Given the description of an element on the screen output the (x, y) to click on. 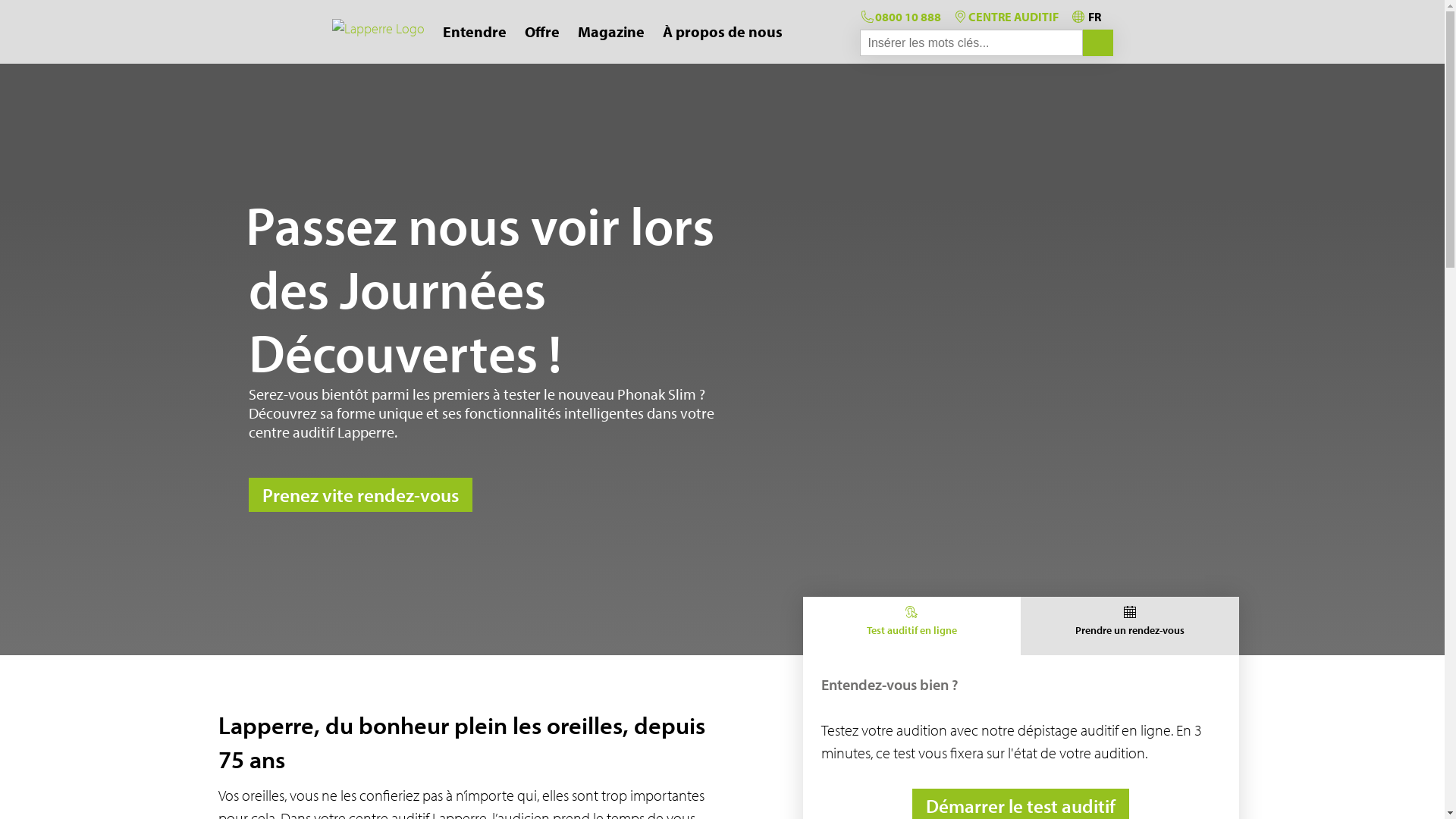
Magazine Element type: text (610, 31)
Search Element type: text (1097, 42)
Test auditif en ligne Element type: text (911, 625)
Offre Element type: text (541, 31)
Entendre Element type: text (474, 31)
Prendre un rendez-vous Element type: text (1129, 625)
